Given the description of an element on the screen output the (x, y) to click on. 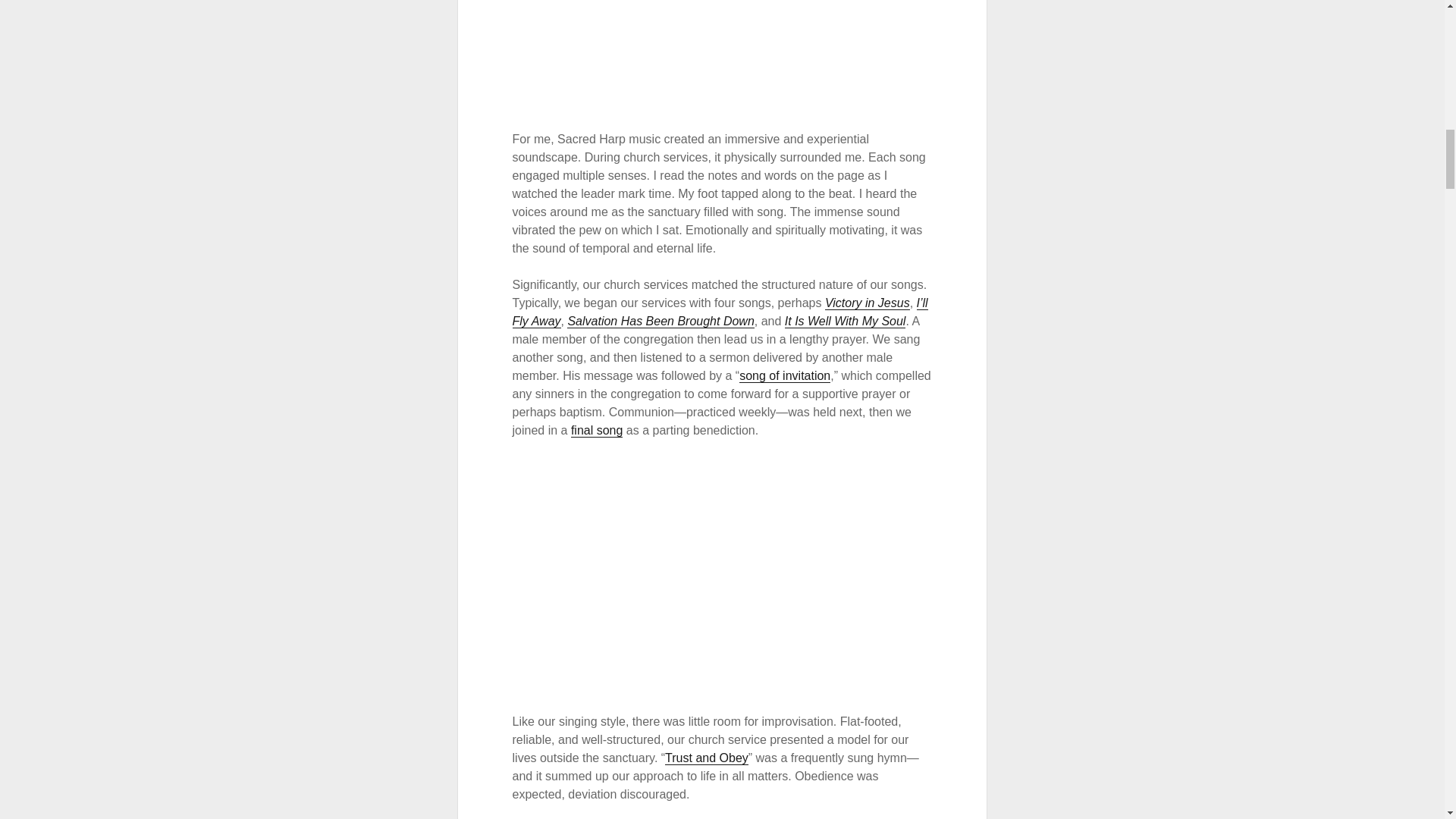
It Is Well With My Soul (844, 321)
final song (596, 430)
song of invitation (784, 376)
Victory in Jesus (867, 303)
Salvation Has Been Brought Down (660, 321)
Trust and Obey (706, 757)
